Given the description of an element on the screen output the (x, y) to click on. 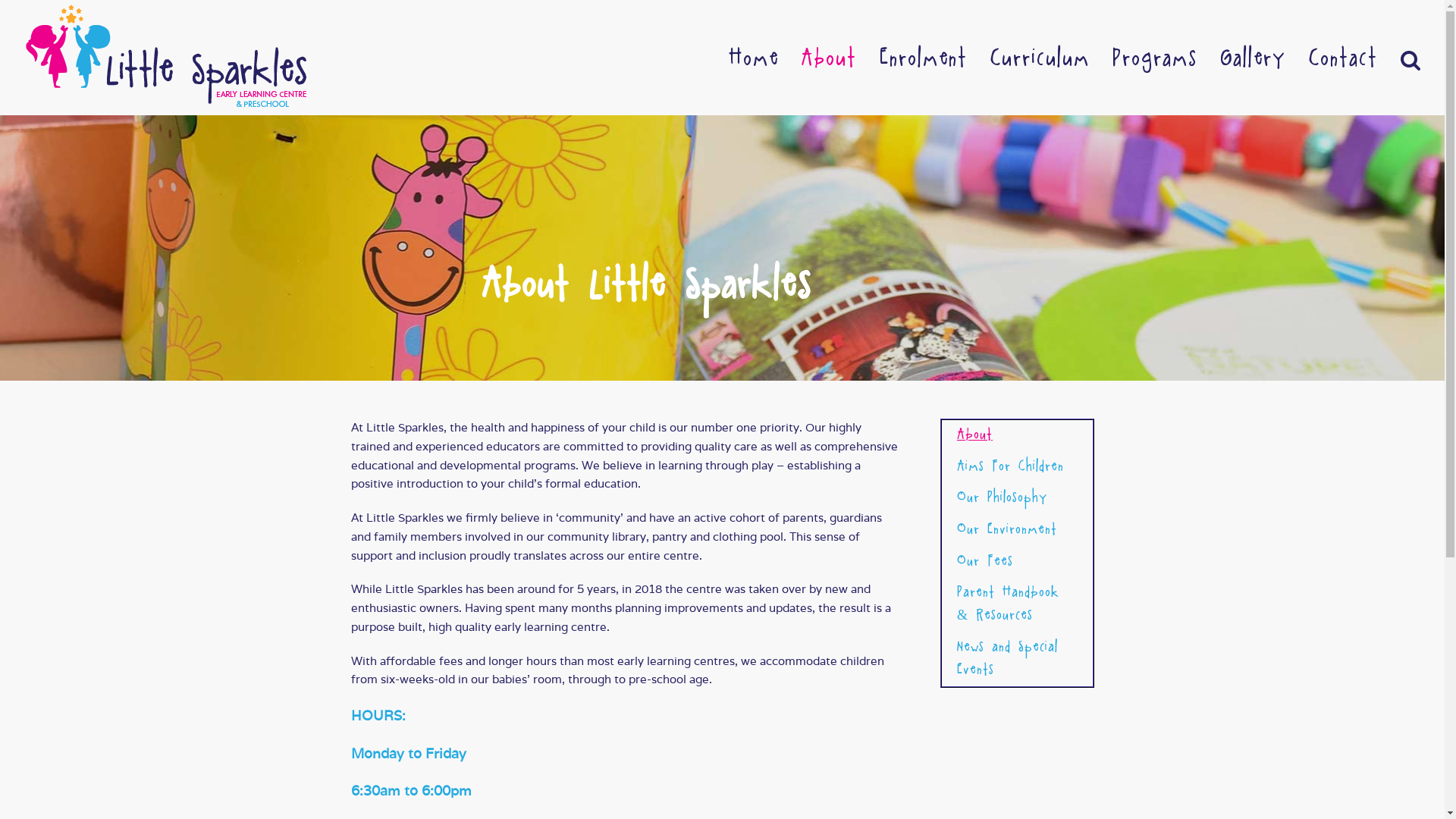
About Element type: text (829, 57)
Our Fees Element type: text (1016, 562)
Parent Handbook & Resources Element type: text (1016, 604)
Our Environment Element type: text (1016, 530)
News and Special Events Element type: text (1016, 659)
Aims For Children Element type: text (1016, 467)
Enrolment Element type: text (923, 57)
About Element type: text (1016, 435)
Home Element type: text (753, 57)
Gallery Element type: text (1252, 57)
Curriculum Element type: text (1040, 57)
Programs Element type: text (1154, 57)
Contact Element type: text (1343, 57)
Our Philosophy Element type: text (1016, 498)
